Given the description of an element on the screen output the (x, y) to click on. 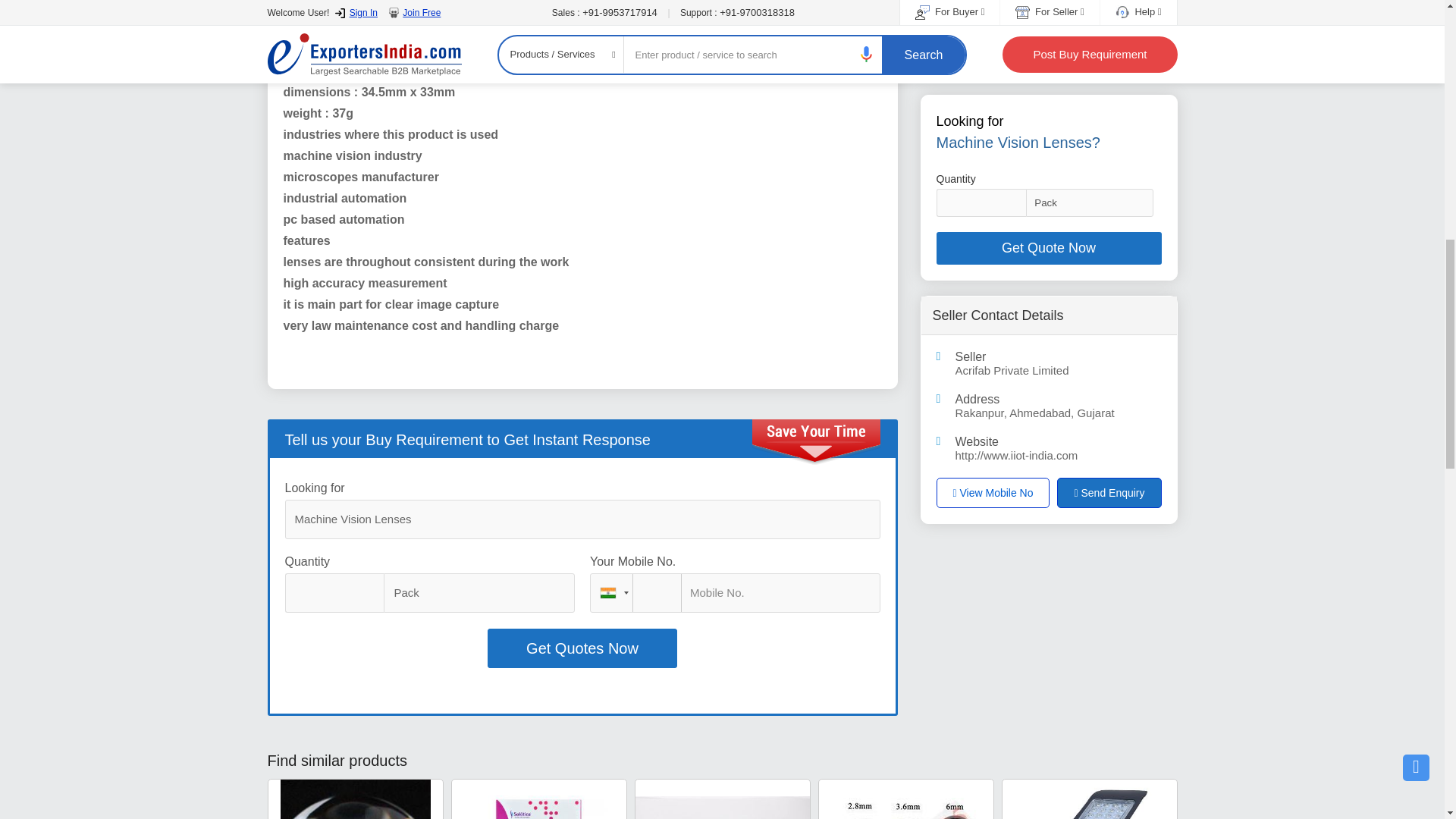
View Mobile No (992, 47)
Machine Vision Lenses (582, 518)
Get Quotes Now (582, 648)
Machine Vision Lenses (582, 518)
Pack (479, 592)
